Given the description of an element on the screen output the (x, y) to click on. 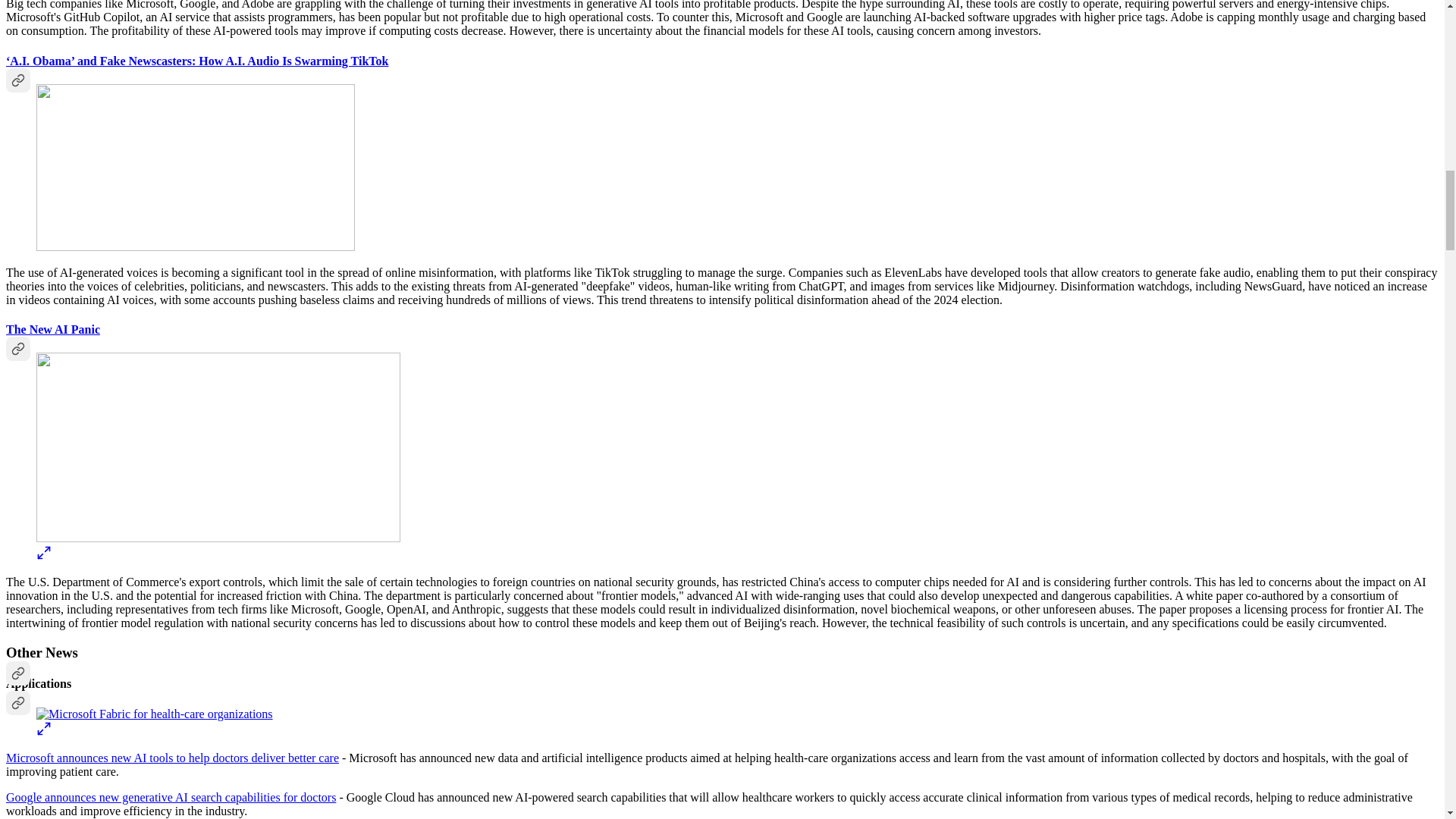
Microsoft Fabric for health-care organizations (154, 714)
The New AI Panic (52, 328)
